Given the description of an element on the screen output the (x, y) to click on. 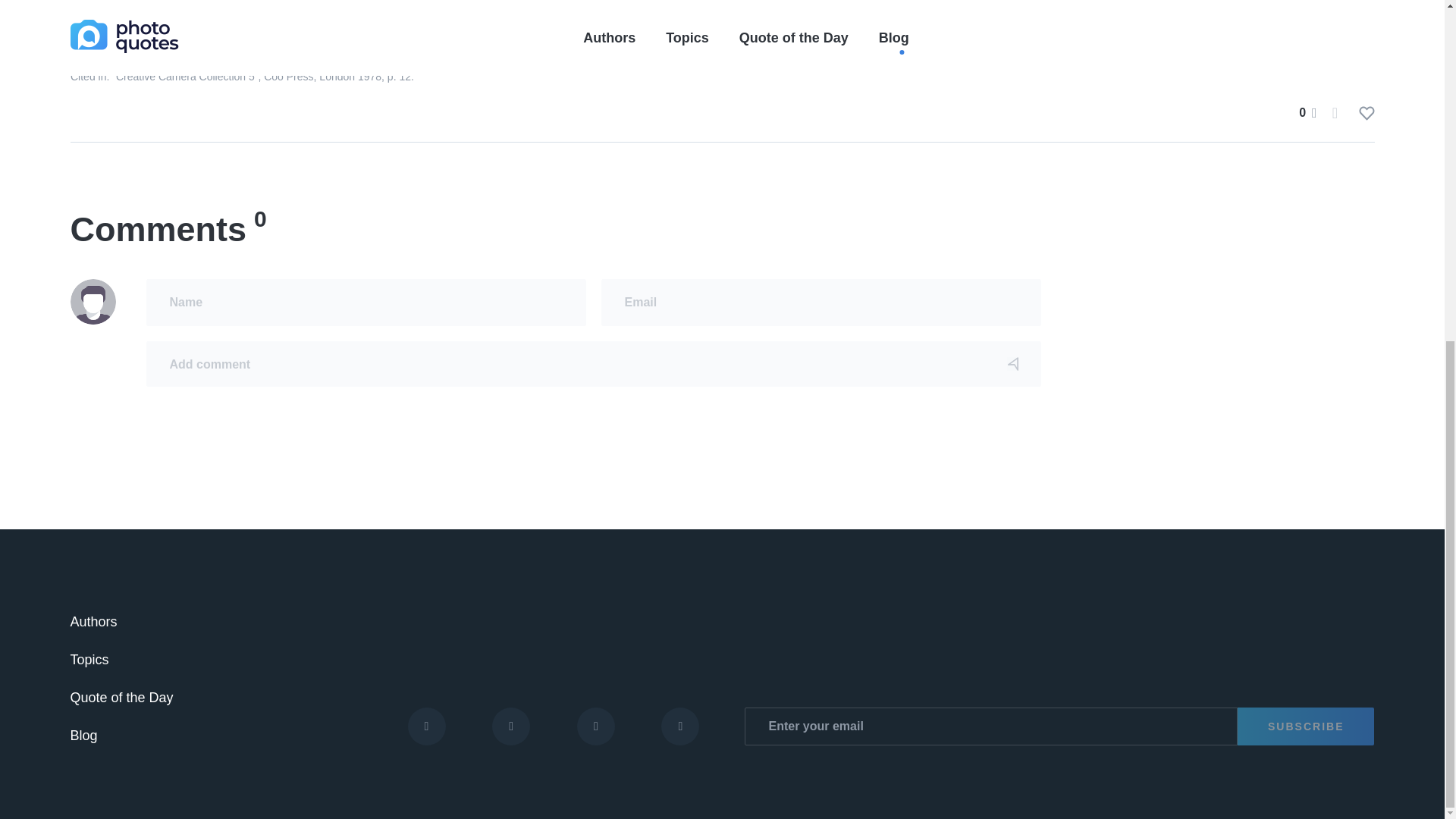
Blog (83, 735)
SUBSCRIBE (1305, 726)
Authors (92, 621)
Dan Weiner (315, 32)
Quote of the Day (121, 697)
Topics (88, 659)
